Given the description of an element on the screen output the (x, y) to click on. 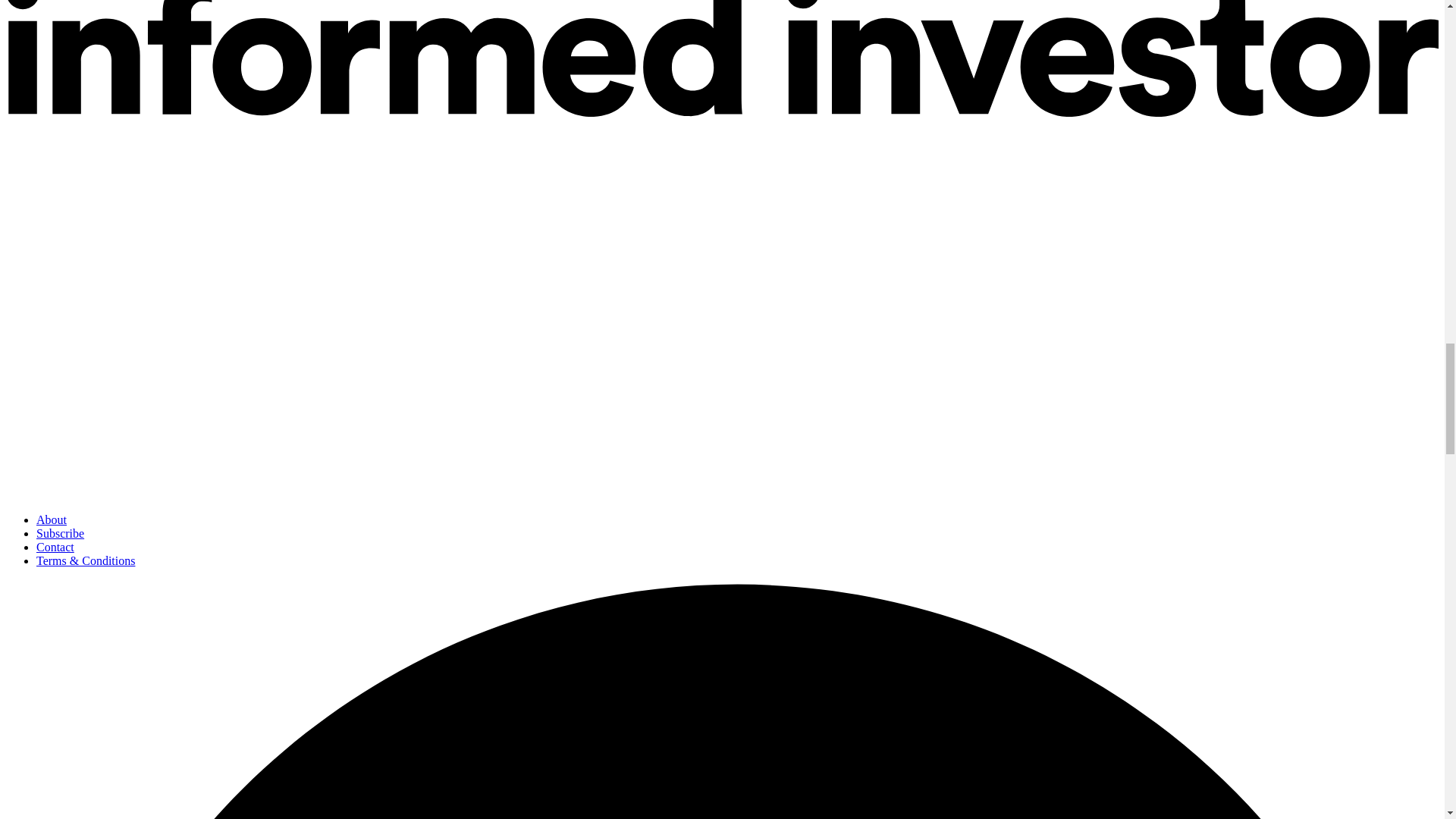
Subscribe (60, 533)
About (51, 519)
Contact (55, 546)
